Given the description of an element on the screen output the (x, y) to click on. 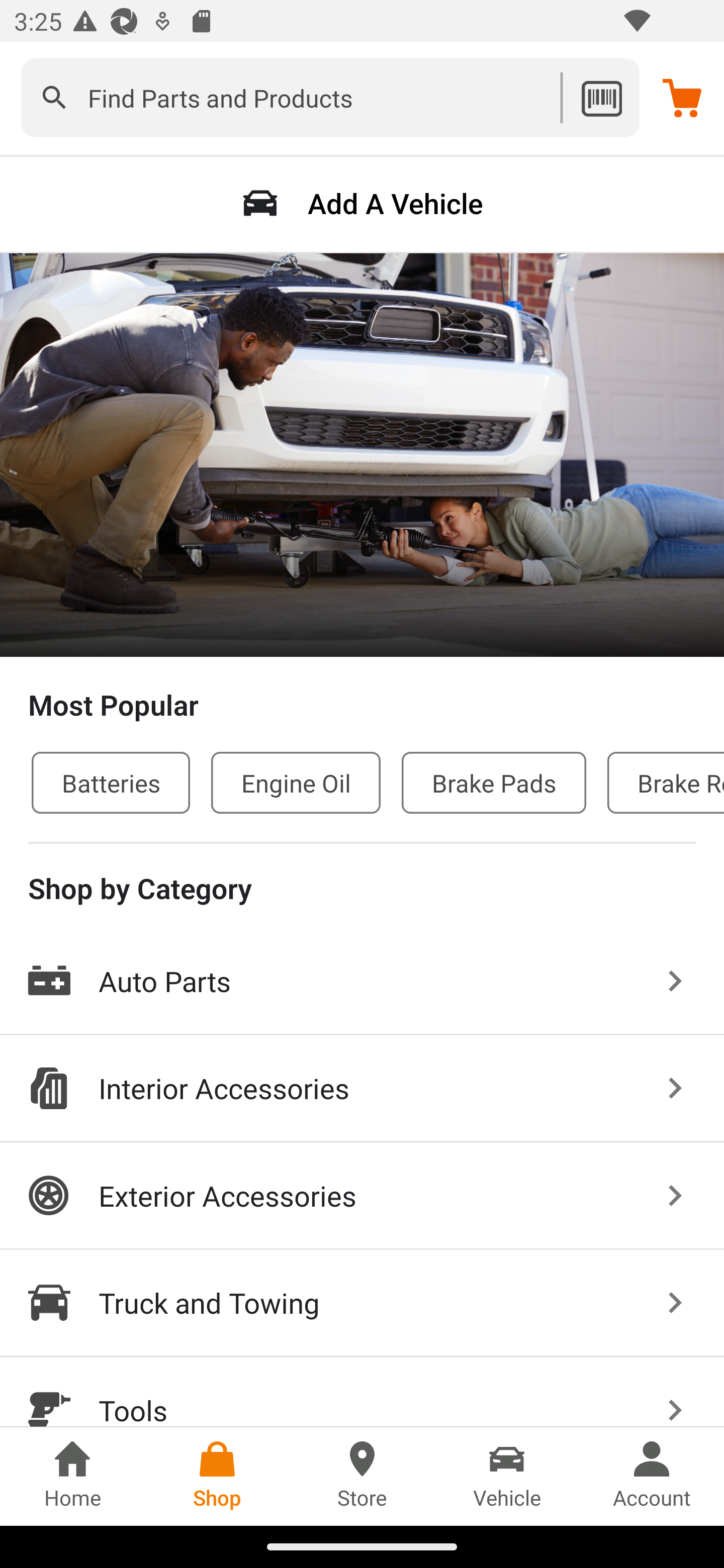
 scan-product-to-search  (601, 97)
 (54, 97)
Cart, no items  (681, 97)
add-vehicle-button  Add A Vehicle (362, 202)
Batteries (110, 782)
Engine Oil (295, 782)
Brake Pads (493, 782)
Brake Rotors (665, 782)
Auto Parts category  Auto Parts  (362, 981)
Truck and Towing category  Truck and Towing  (362, 1303)
Tools category  Tools  (362, 1391)
Home (72, 1475)
Shop (216, 1475)
Store (361, 1475)
Vehicle (506, 1475)
Account (651, 1475)
